Given the description of an element on the screen output the (x, y) to click on. 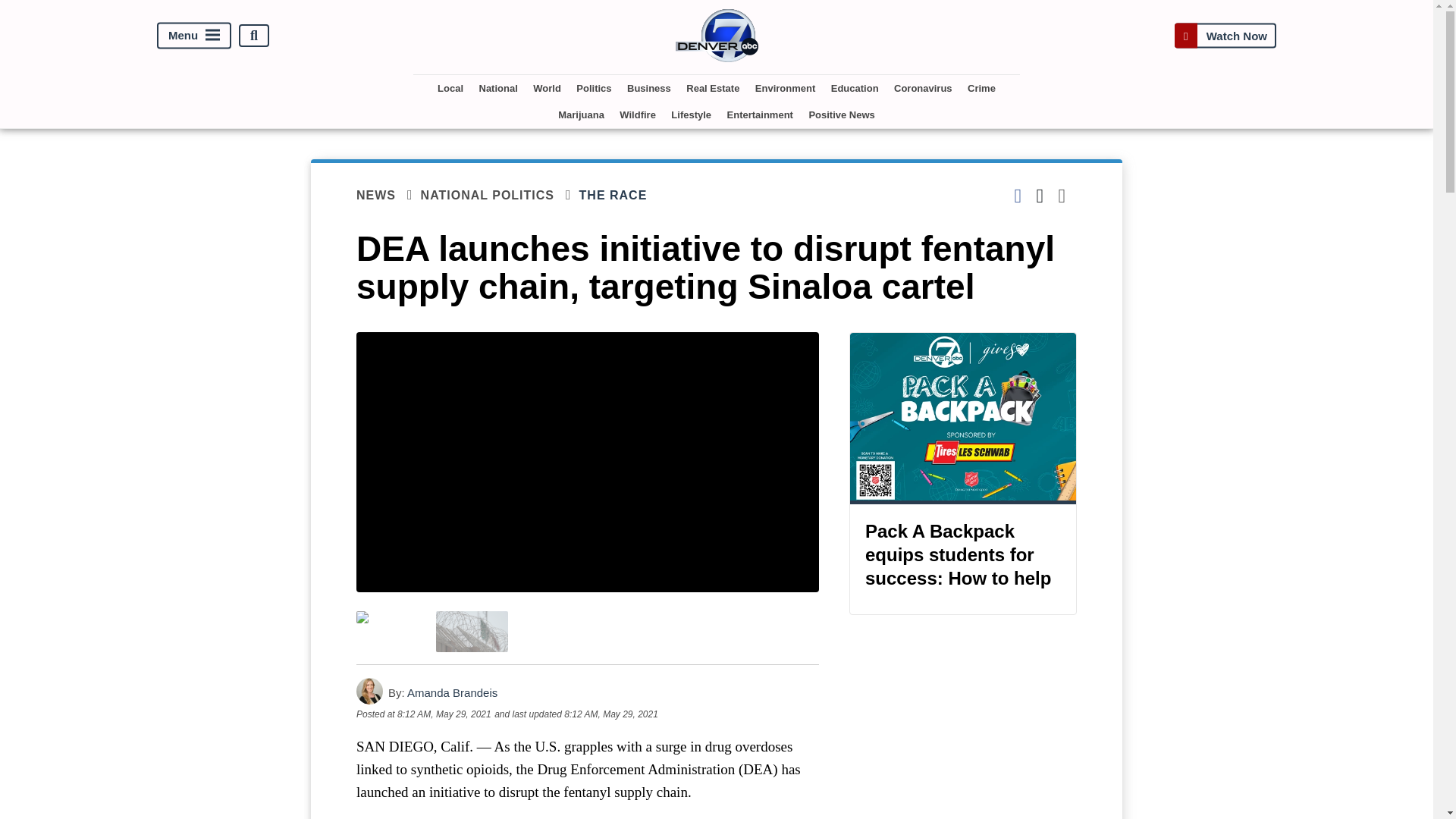
Menu (194, 35)
Watch Now (1224, 34)
